Given the description of an element on the screen output the (x, y) to click on. 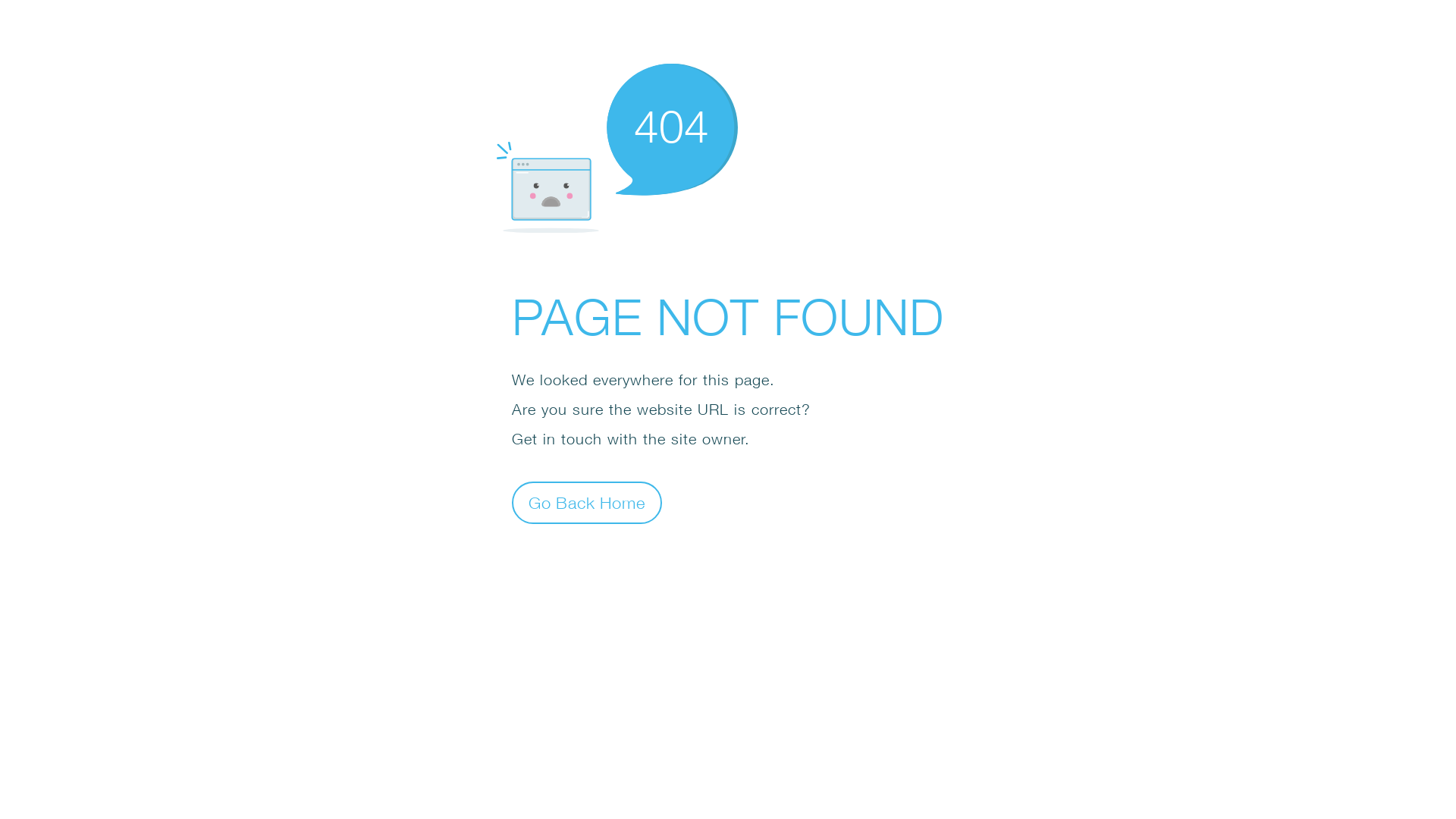
Go Back Home Element type: text (586, 502)
